Given the description of an element on the screen output the (x, y) to click on. 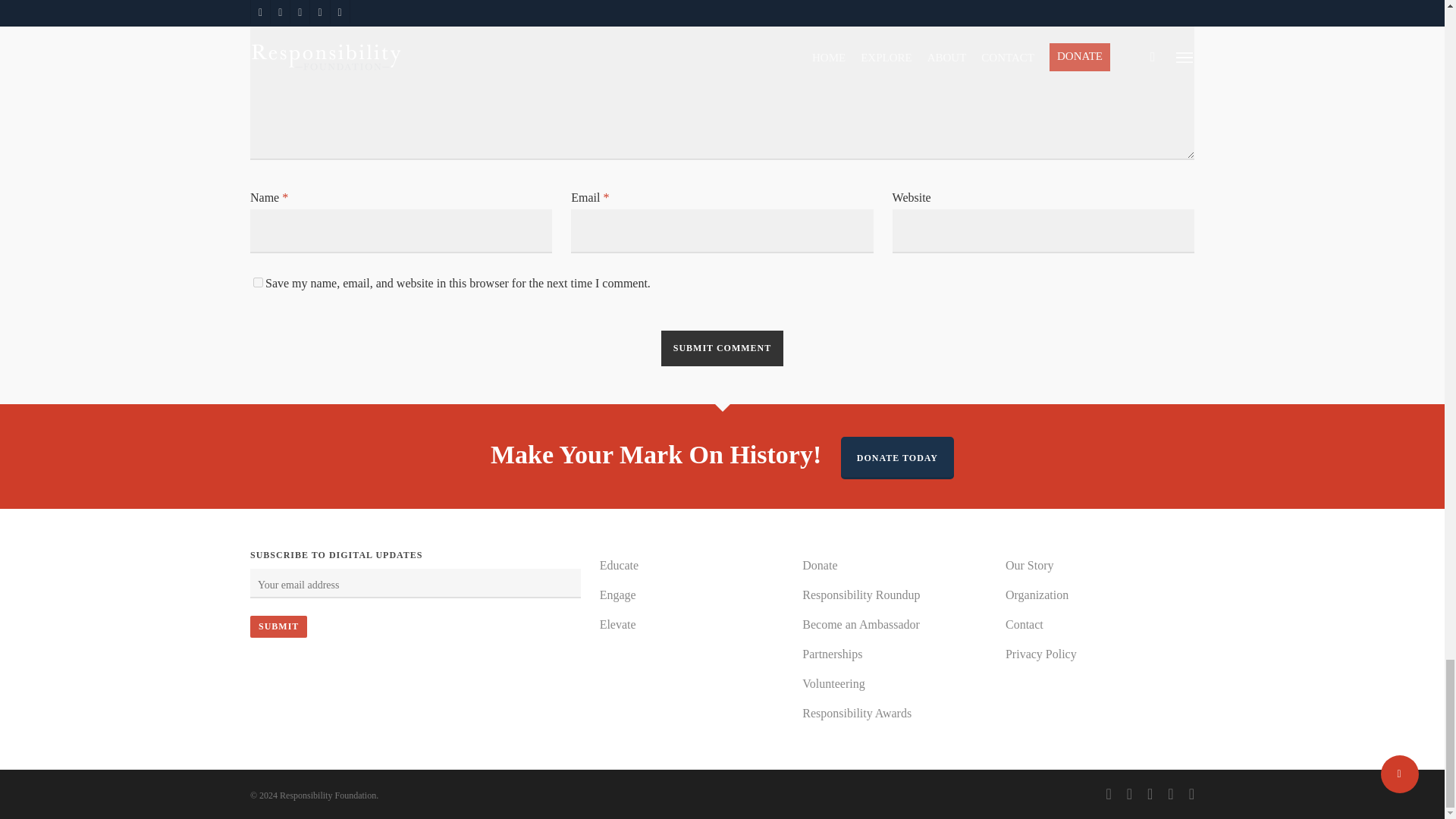
yes (258, 282)
Submit Comment (722, 348)
Submit (278, 626)
